Given the description of an element on the screen output the (x, y) to click on. 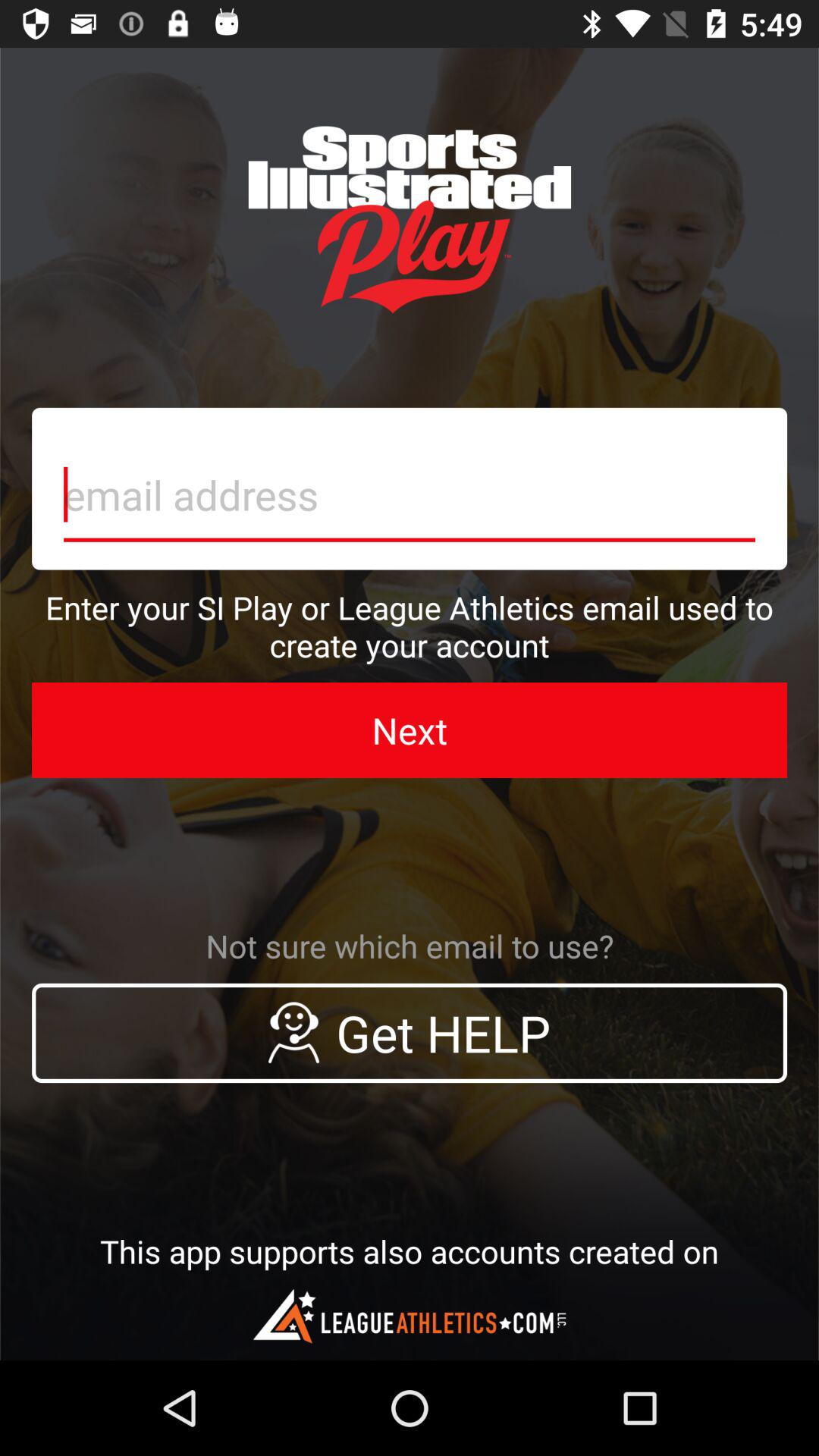
swipe until next item (409, 730)
